Given the description of an element on the screen output the (x, y) to click on. 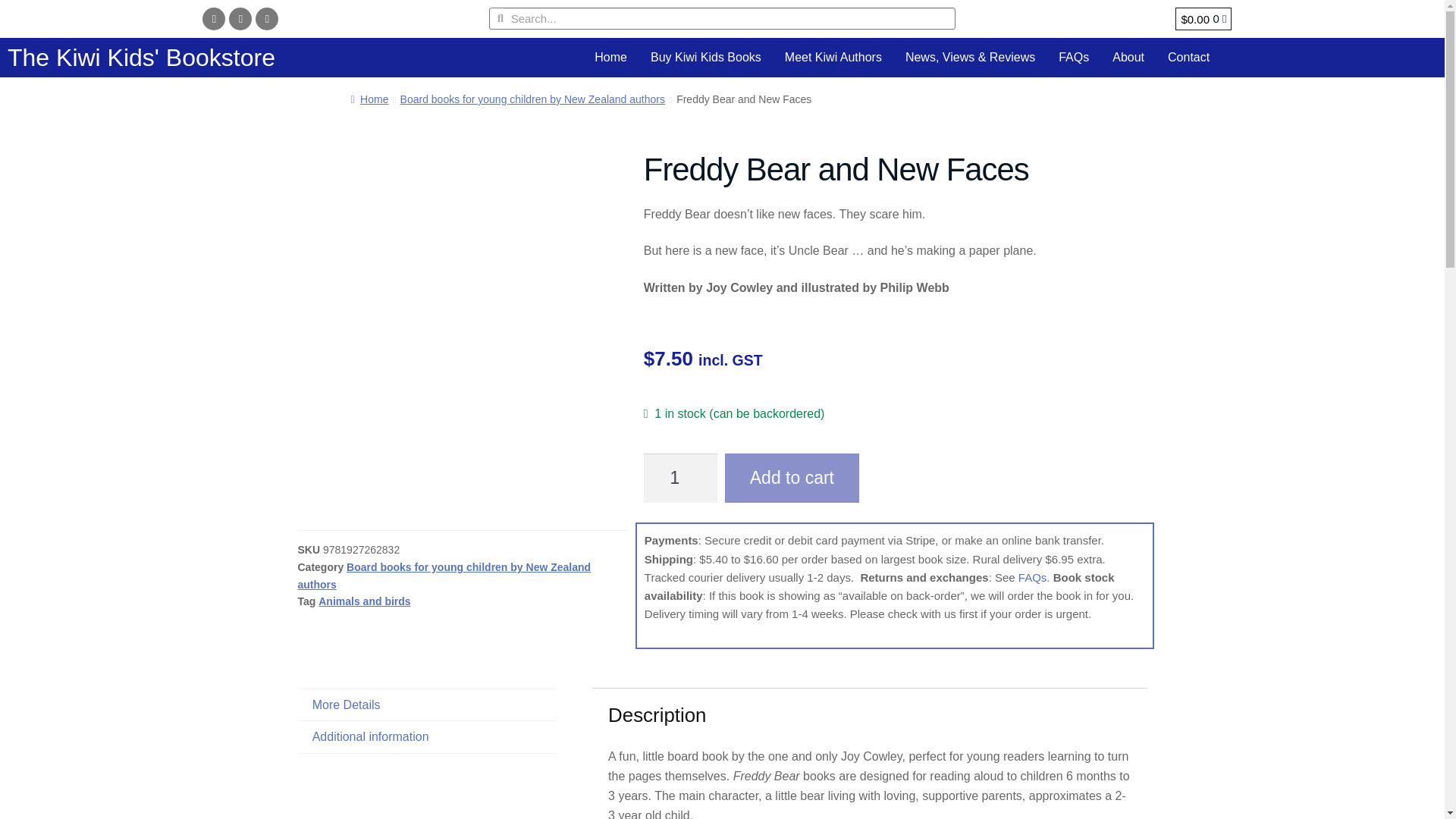
About (1128, 57)
Meet Kiwi Authors (832, 57)
1 (680, 478)
Buy Kiwi Kids Books (705, 57)
Contact (1188, 57)
FAQs (1073, 57)
The Kiwi Kids' Bookstore (141, 57)
Home (611, 57)
